Given the description of an element on the screen output the (x, y) to click on. 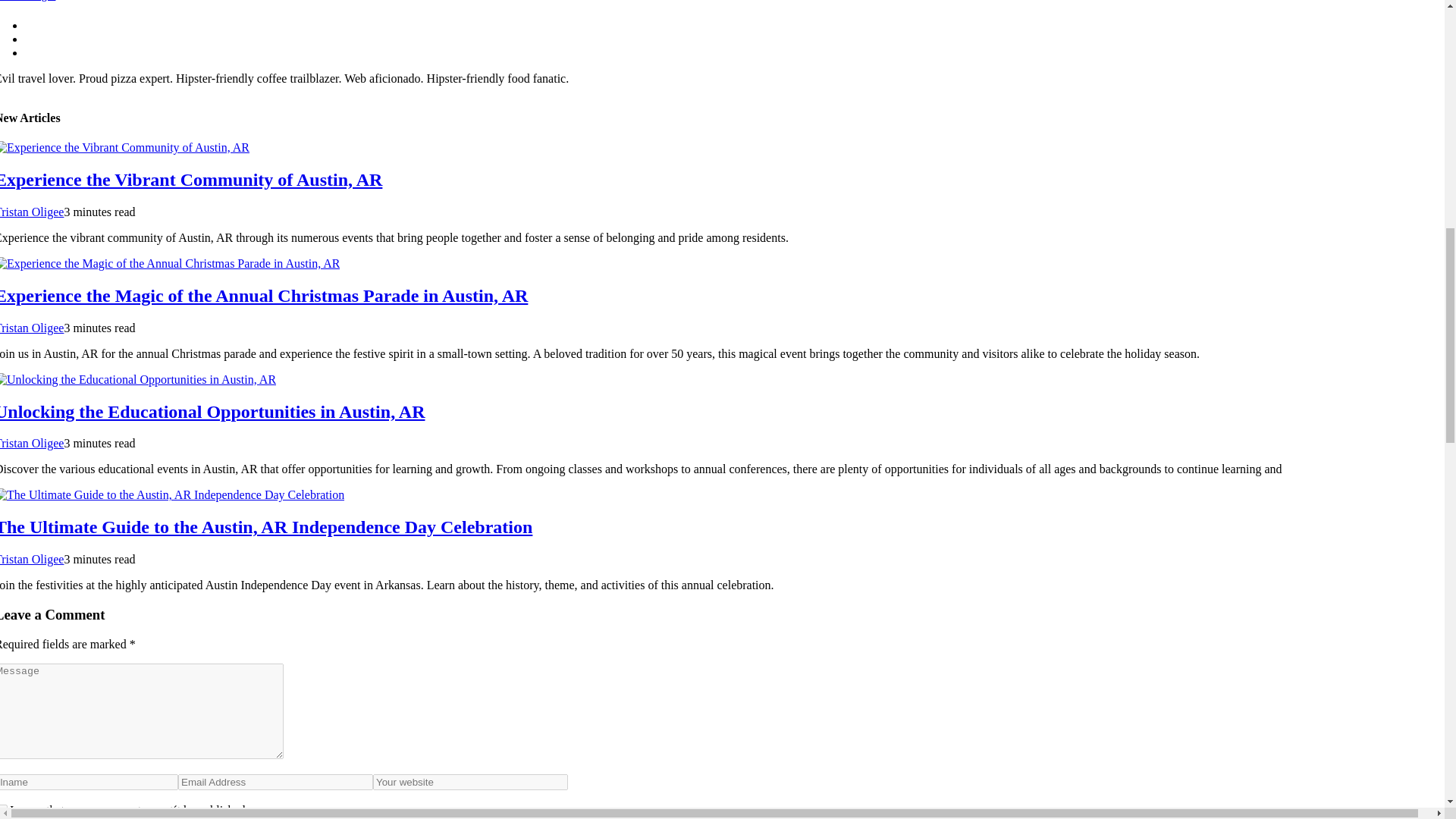
Experience the Vibrant Community of Austin, AR (190, 179)
Tristan Oligee (32, 211)
Tristan Oligee (27, 0)
Unlocking the Educational Opportunities in Austin, AR (212, 411)
Posts by Tristan Oligee (32, 442)
Posts by Tristan Oligee (32, 327)
Tristan Oligee (32, 558)
Posts by Tristan Oligee (32, 558)
Posts by Tristan Oligee (32, 211)
